Given the description of an element on the screen output the (x, y) to click on. 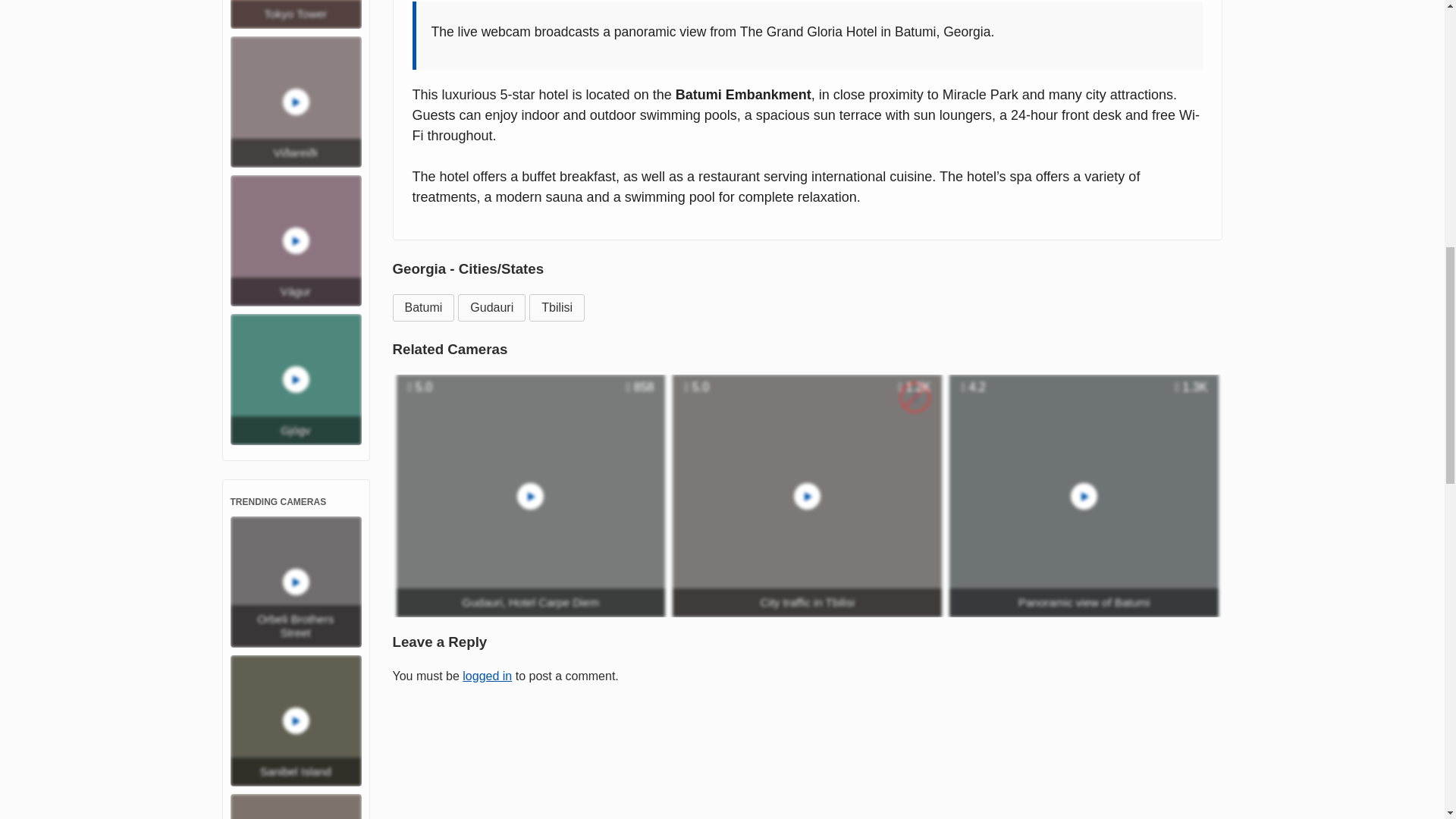
Orbeli Brothers Street (295, 581)
Sanibel Island (295, 720)
Tokyo Tower (295, 14)
Sagrada Familia (295, 806)
